Given the description of an element on the screen output the (x, y) to click on. 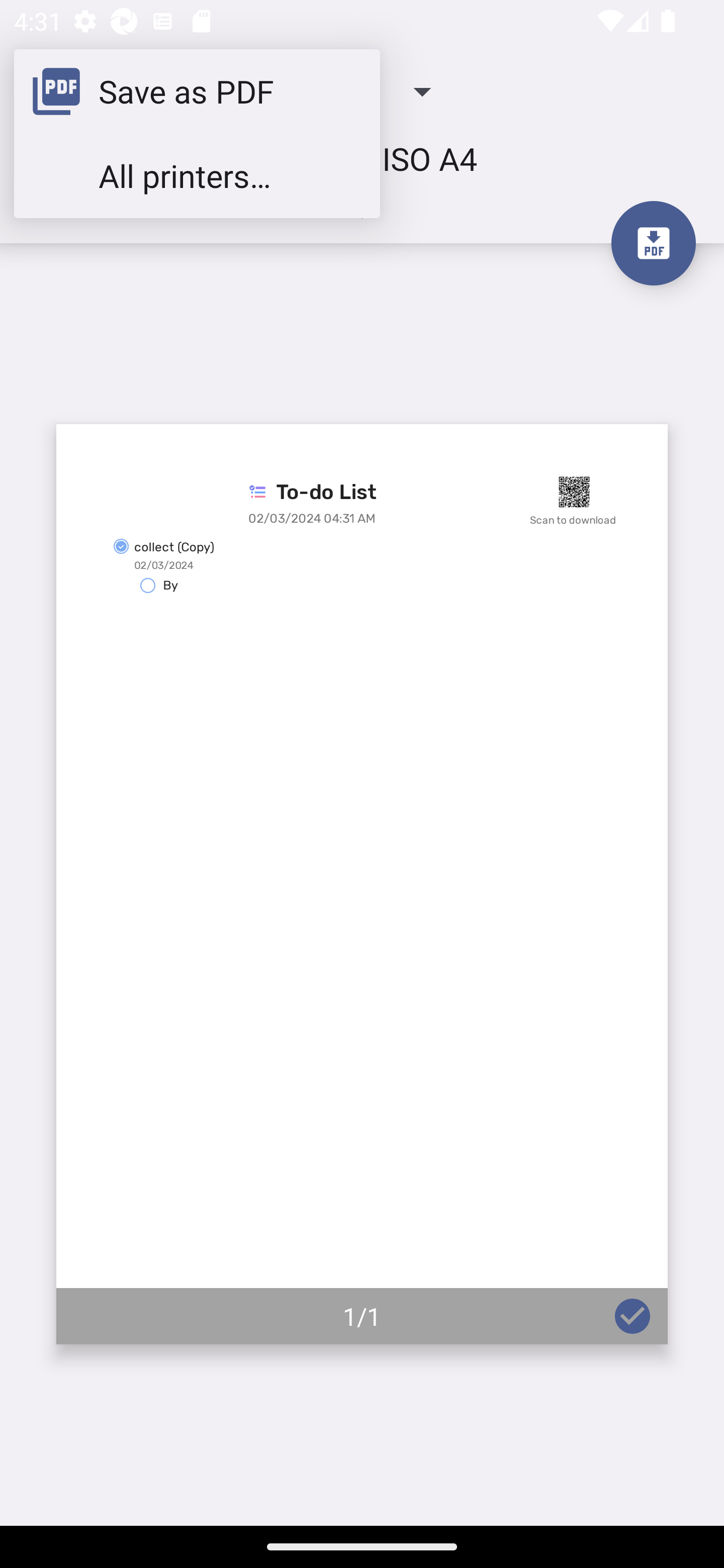
Save as PDF (196, 90)
All printers… (196, 175)
